Given the description of an element on the screen output the (x, y) to click on. 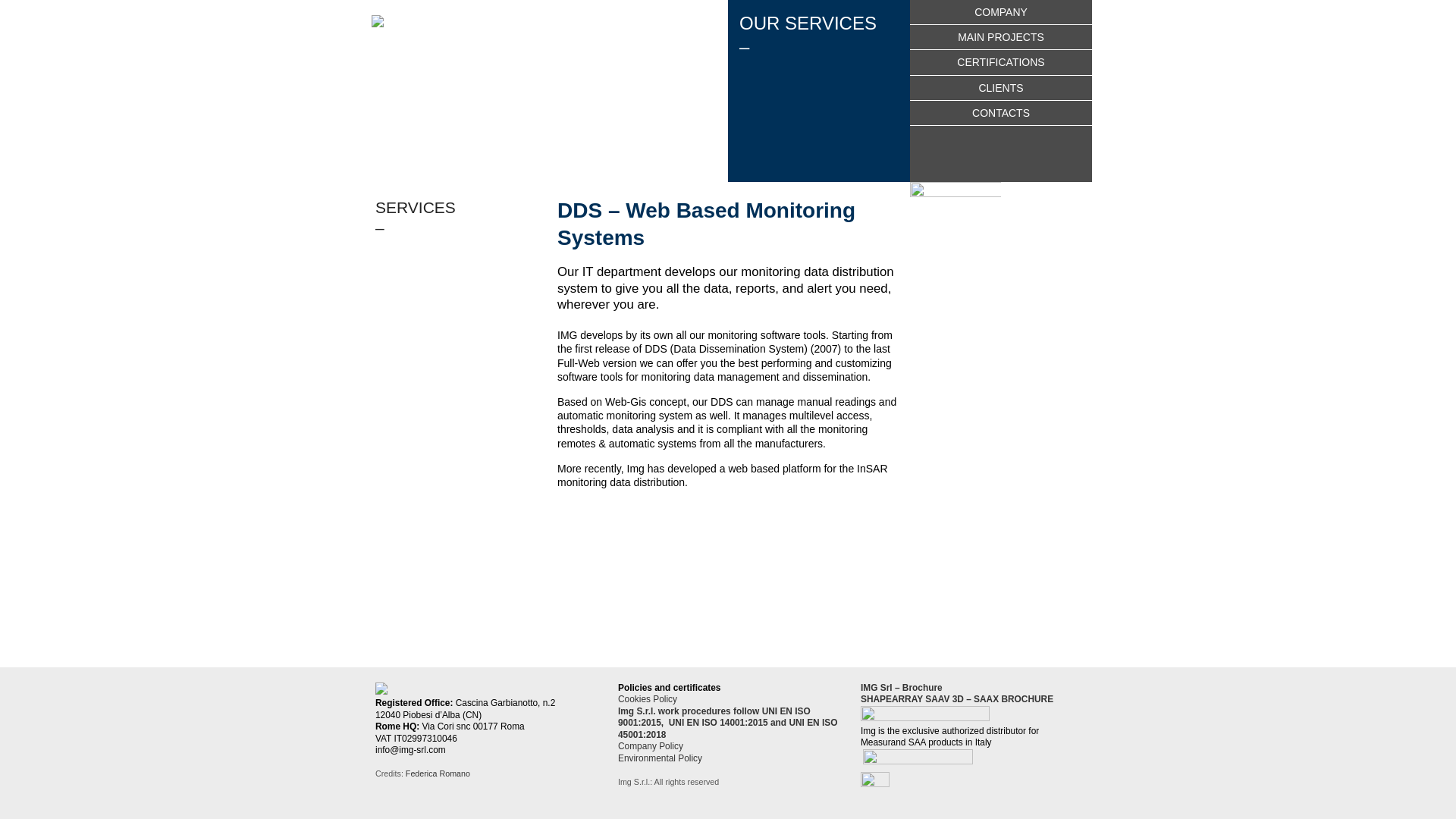
Img S.r.l. work procedures follow (689, 710)
UNI EN ISO 45001:2018 (727, 728)
Environmental Policy (659, 757)
UNI EN ISO 9001:2015,  (713, 716)
MAIN PROJECTS (1000, 37)
Company Policy (649, 746)
Federica Romano (438, 773)
UNI EN ISO 14001:2015 and (728, 722)
OUR SERVICES (819, 34)
CONTACTS (1000, 112)
